Given the description of an element on the screen output the (x, y) to click on. 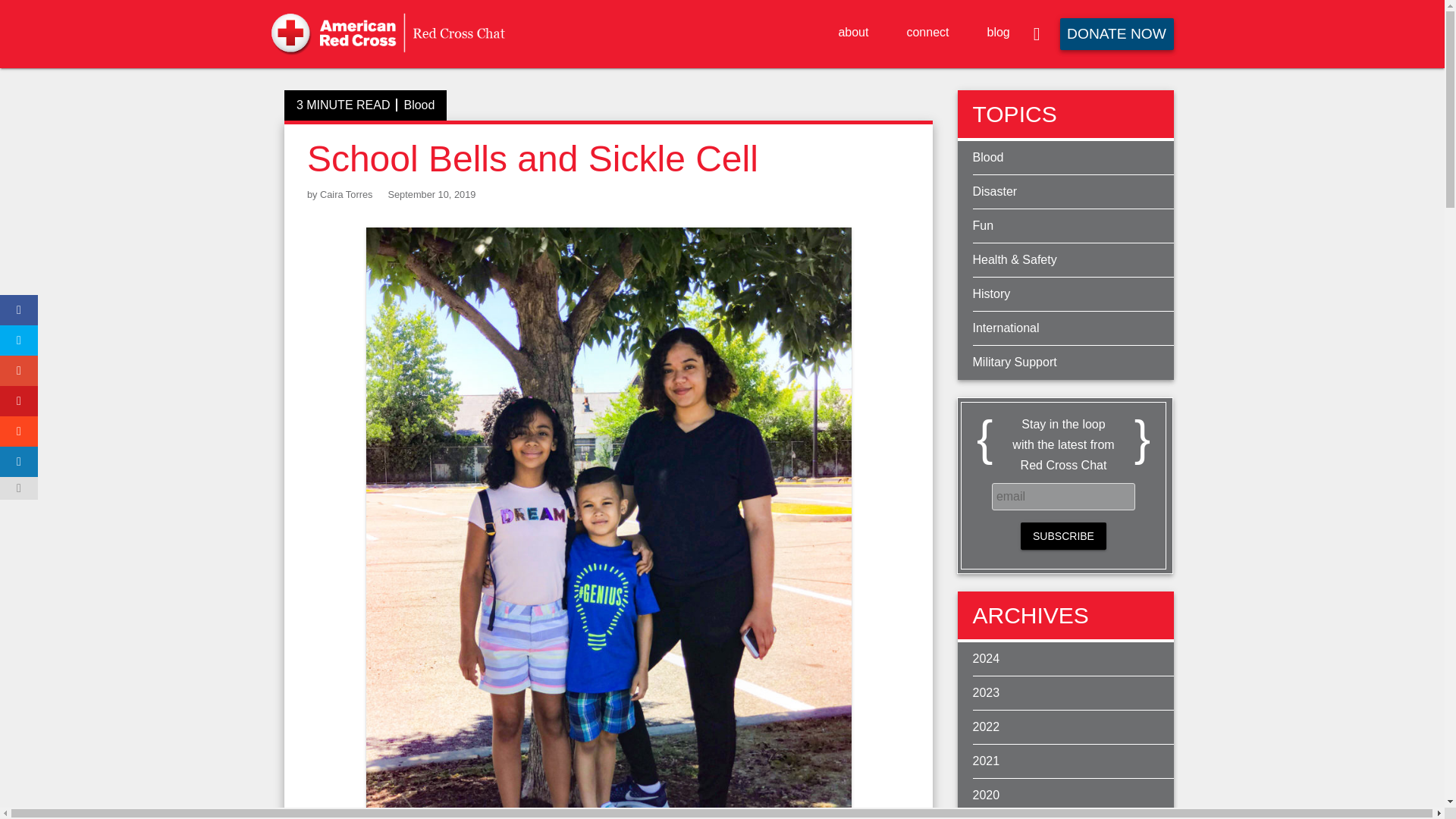
DONATE NOW (1116, 33)
connect (927, 31)
Blood (418, 104)
September 10, 2019 (431, 194)
Blood (1072, 157)
blog (998, 31)
email (1063, 496)
email (1063, 496)
about (852, 31)
